Given the description of an element on the screen output the (x, y) to click on. 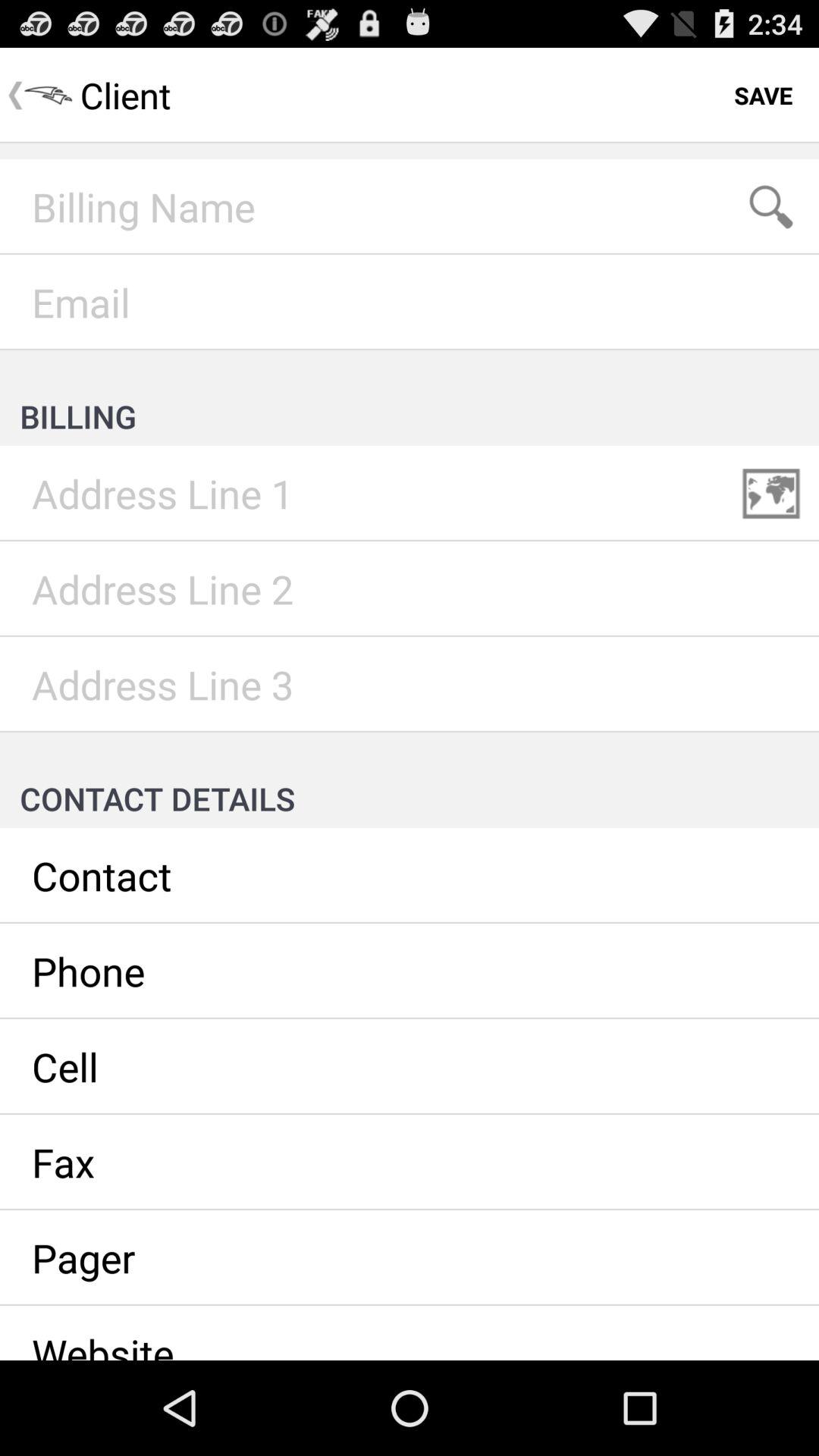
billing address line three (409, 684)
